Given the description of an element on the screen output the (x, y) to click on. 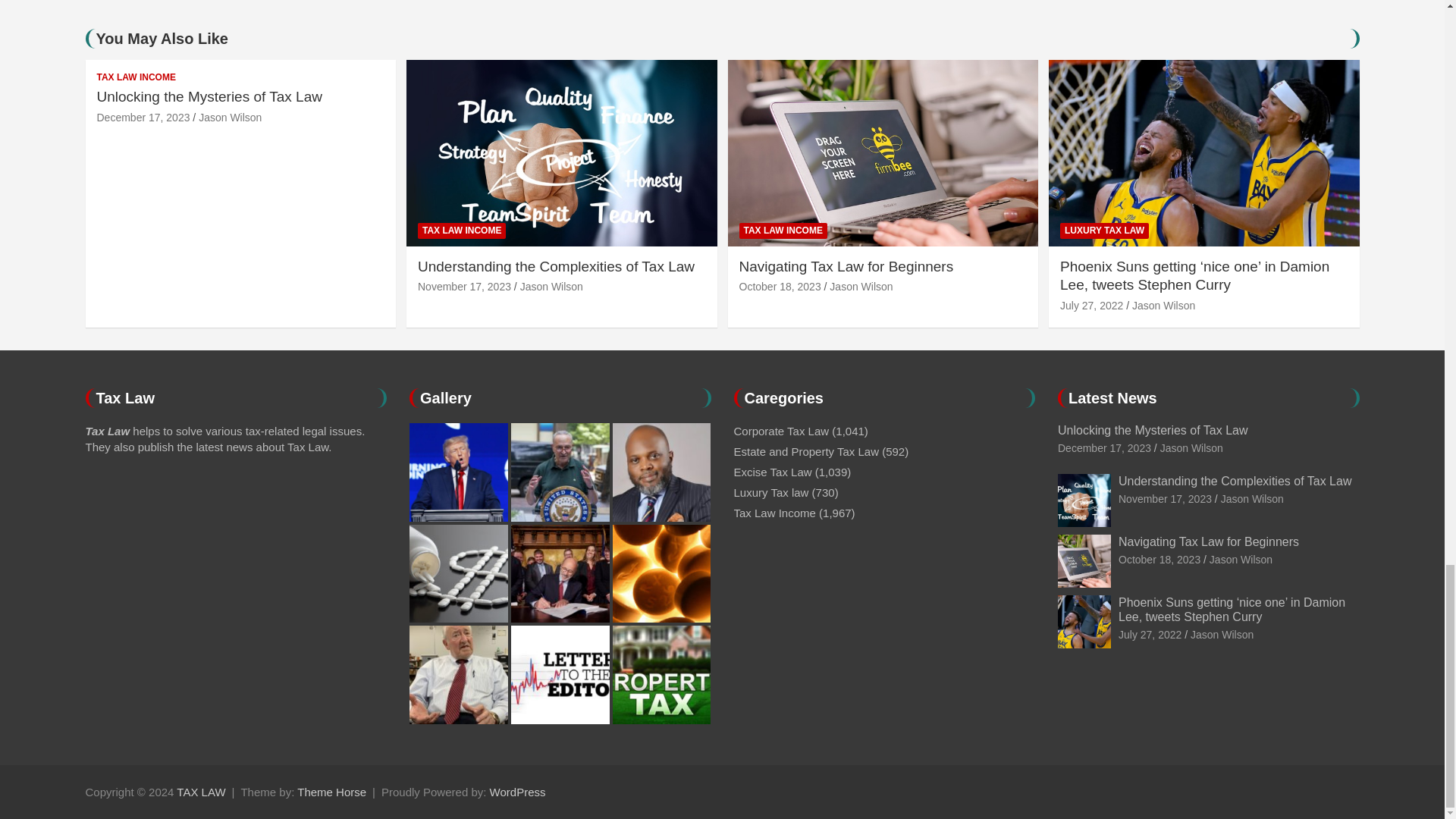
Navigating Tax Law for Beginners (1158, 559)
Unlocking the Mysteries of Tax Law (1104, 448)
TAX LAW (200, 791)
Navigating Tax Law for Beginners (779, 286)
WordPress (517, 791)
Understanding the Complexities of Tax Law (1164, 499)
Theme Horse (331, 791)
Unlocking the Mysteries of Tax Law (143, 117)
Understanding the Complexities of Tax Law (464, 286)
